Given the description of an element on the screen output the (x, y) to click on. 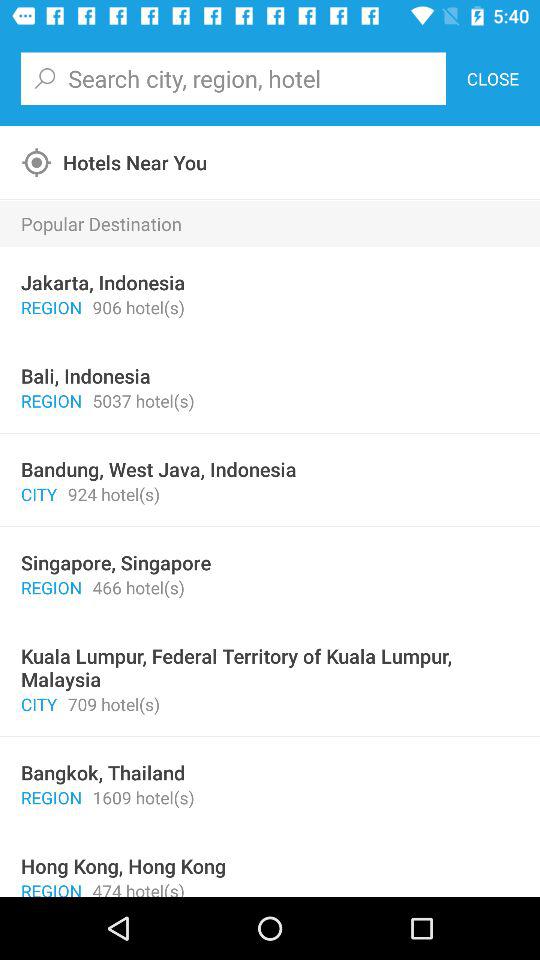
open the icon next to the close item (233, 78)
